Given the description of an element on the screen output the (x, y) to click on. 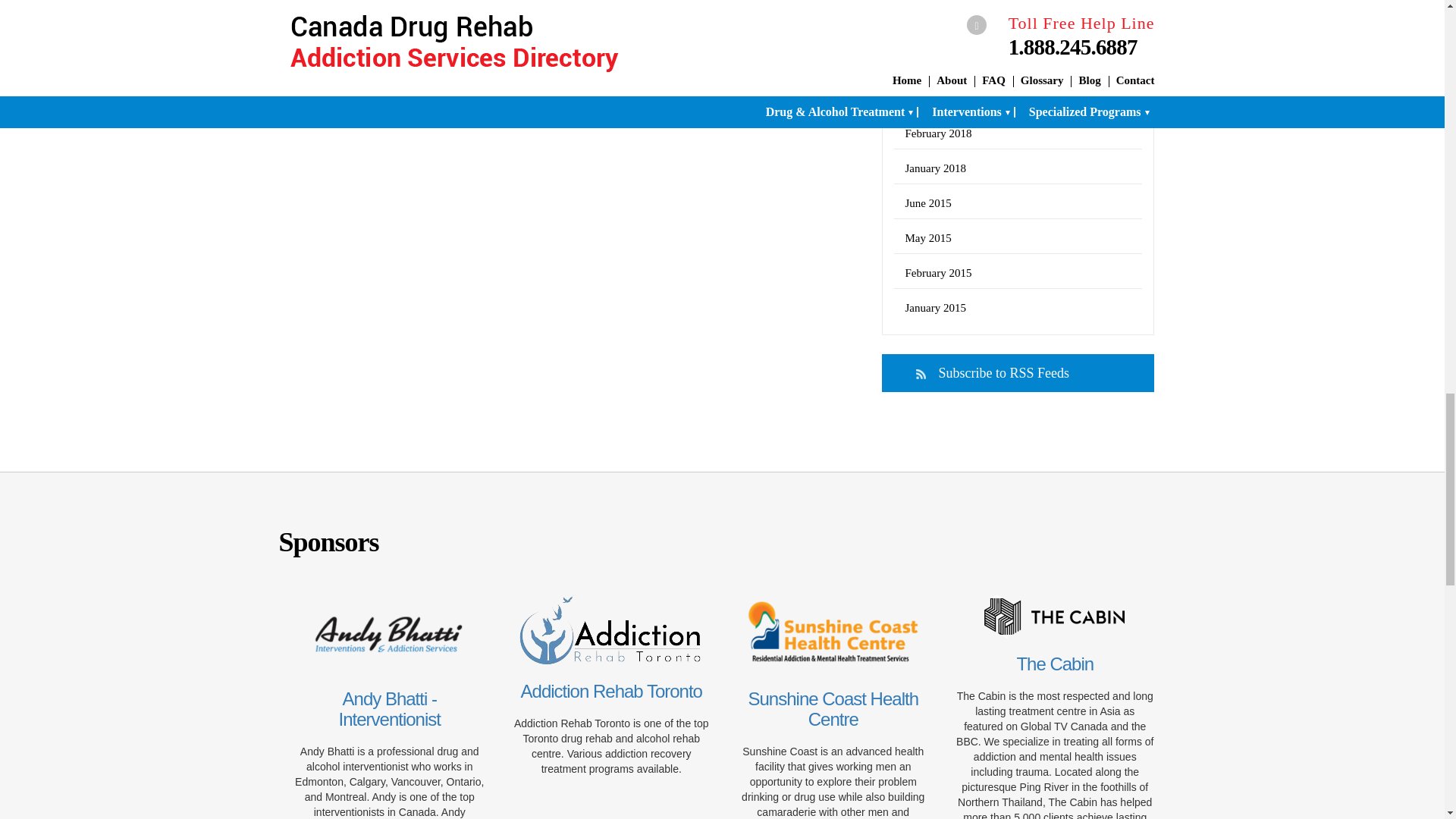
Submit (345, 62)
